Given the description of an element on the screen output the (x, y) to click on. 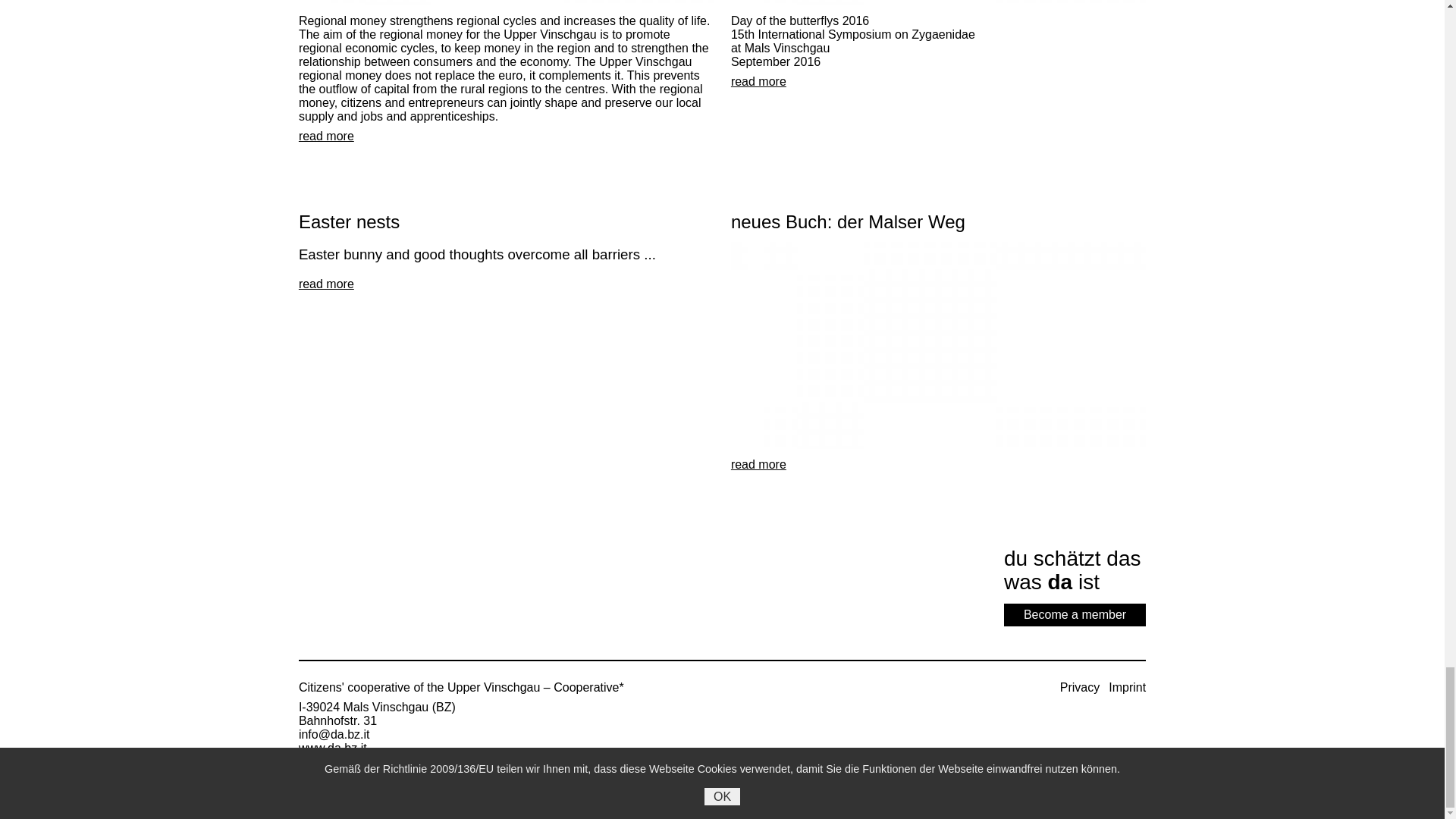
Bild (937, 2)
Buch Malser Weg (937, 345)
Bild (505, 2)
